Given the description of an element on the screen output the (x, y) to click on. 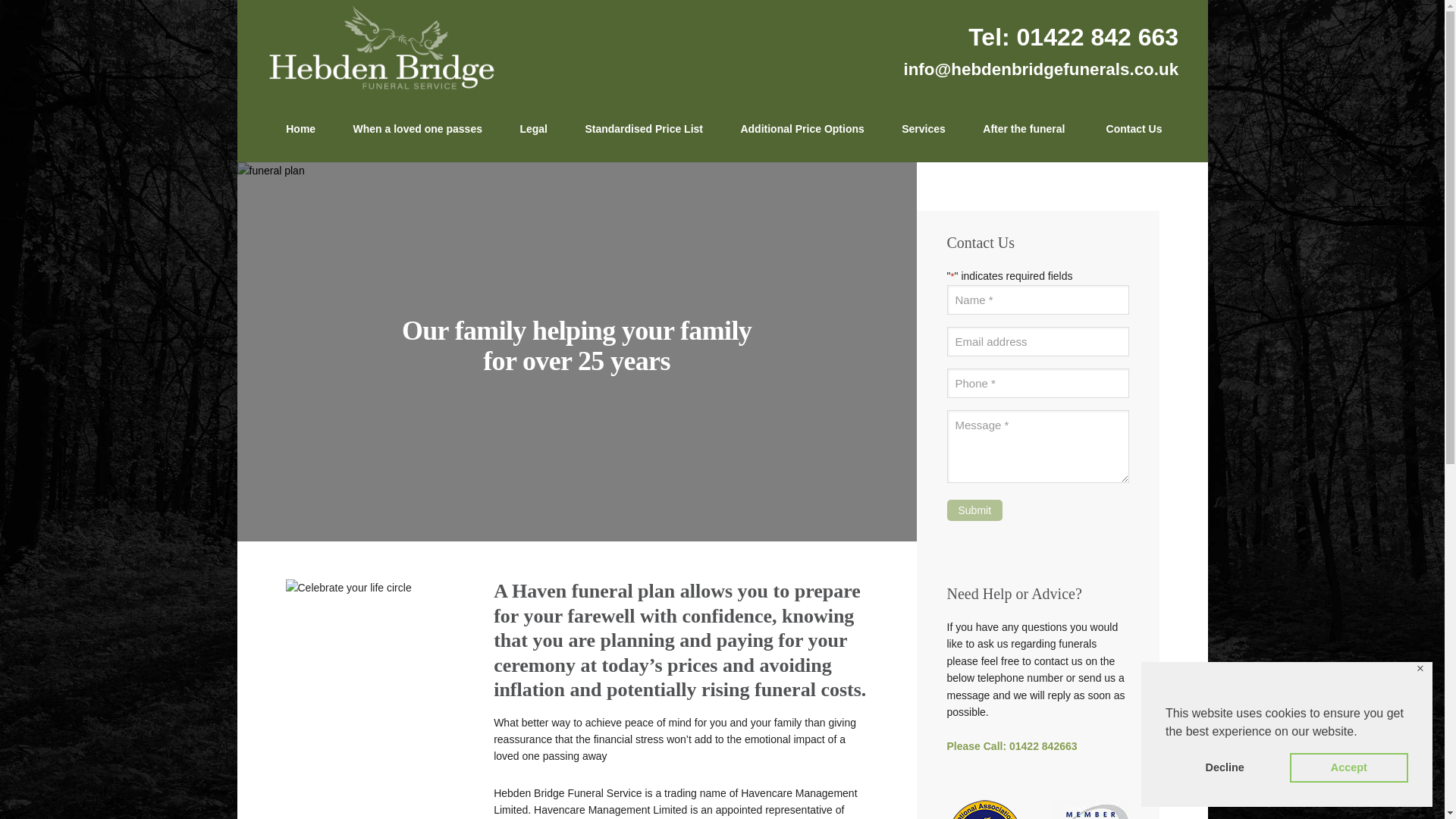
Contact Us (1129, 128)
Submit (974, 509)
Home (299, 128)
Services (923, 128)
After the funeral (1023, 128)
Legal (533, 128)
When a loved one passes (417, 128)
Submit (974, 509)
Tel: 01422 842 663 (1072, 36)
Accept (1348, 767)
Standardised Price List (644, 128)
Decline (1225, 767)
Additional Price Options (802, 128)
Please Call: 01422 842663 (1011, 746)
